Given the description of an element on the screen output the (x, y) to click on. 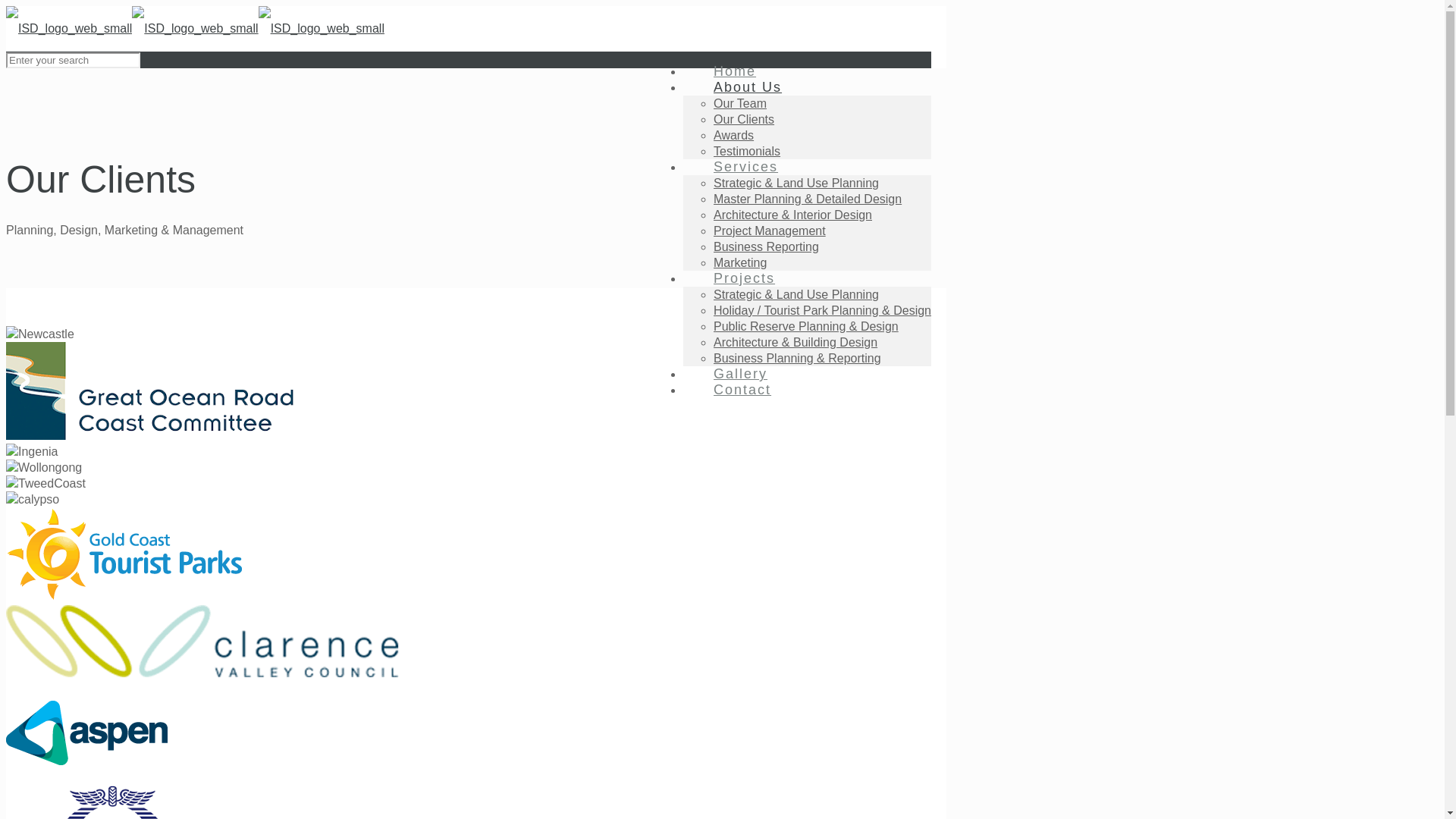
Holiday / Tourist Park Planning & Design Element type: text (822, 310)
Integrated Site Design Element type: hover (195, 28)
Our Clients Element type: text (743, 118)
Architecture & Interior Design Element type: text (792, 214)
Strategic & Land Use Planning Element type: text (795, 294)
Architecture & Building Design Element type: text (795, 341)
Projects Element type: text (736, 278)
Home Element type: text (727, 71)
Strategic & Land Use Planning Element type: text (795, 182)
Awards Element type: text (733, 134)
Contact Element type: text (734, 389)
Business Planning & Reporting Element type: text (797, 357)
About Us Element type: text (740, 87)
Marketing Element type: text (739, 262)
Testimonials Element type: text (746, 150)
Our Team Element type: text (739, 103)
Gallery Element type: text (732, 373)
Master Planning & Detailed Design Element type: text (807, 198)
Services Element type: text (738, 166)
Business Reporting Element type: text (766, 246)
Public Reserve Planning & Design Element type: text (805, 326)
Project Management Element type: text (769, 230)
